Given the description of an element on the screen output the (x, y) to click on. 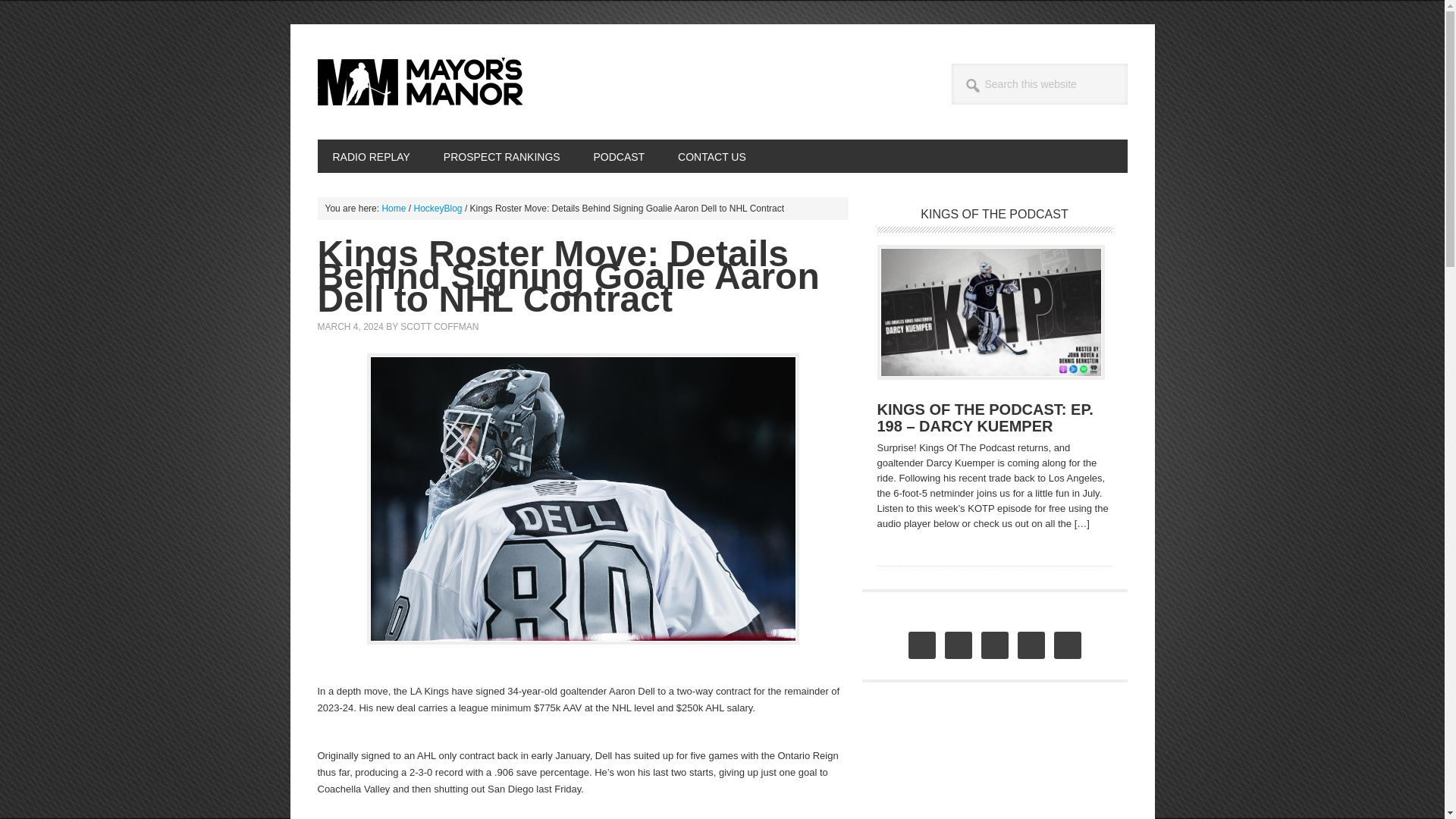
3rd party ad content (989, 768)
CONTACT US (711, 155)
PODCAST (618, 155)
MAYORSMANOR.COM - LA KINGS NEWS (419, 81)
HockeyBlog (438, 208)
SCOTT COFFMAN (439, 326)
Home (393, 208)
RADIO REPLAY (371, 155)
PROSPECT RANKINGS (501, 155)
